Given the description of an element on the screen output the (x, y) to click on. 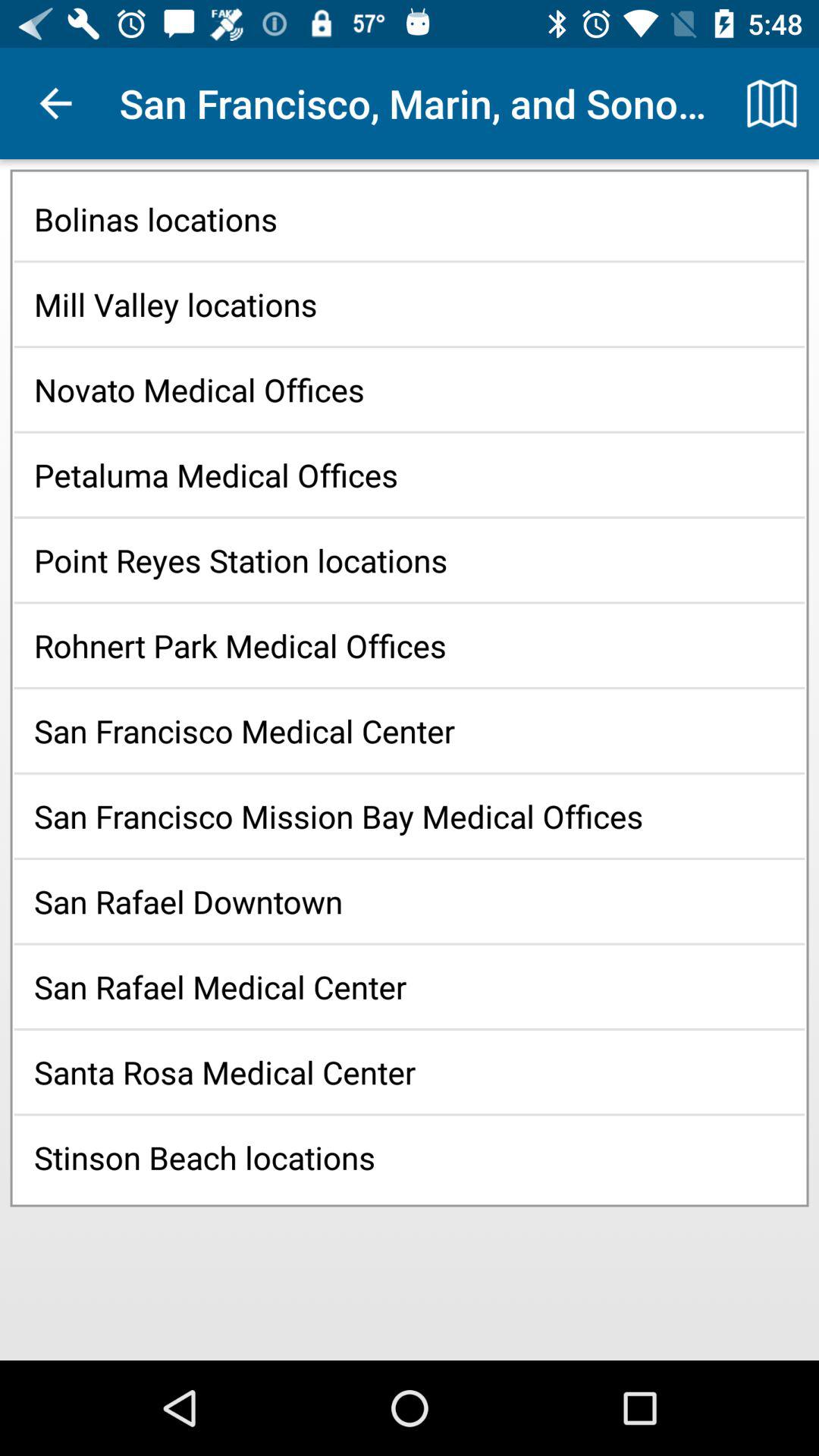
select the app to the right of the san francisco marin app (771, 103)
